Given the description of an element on the screen output the (x, y) to click on. 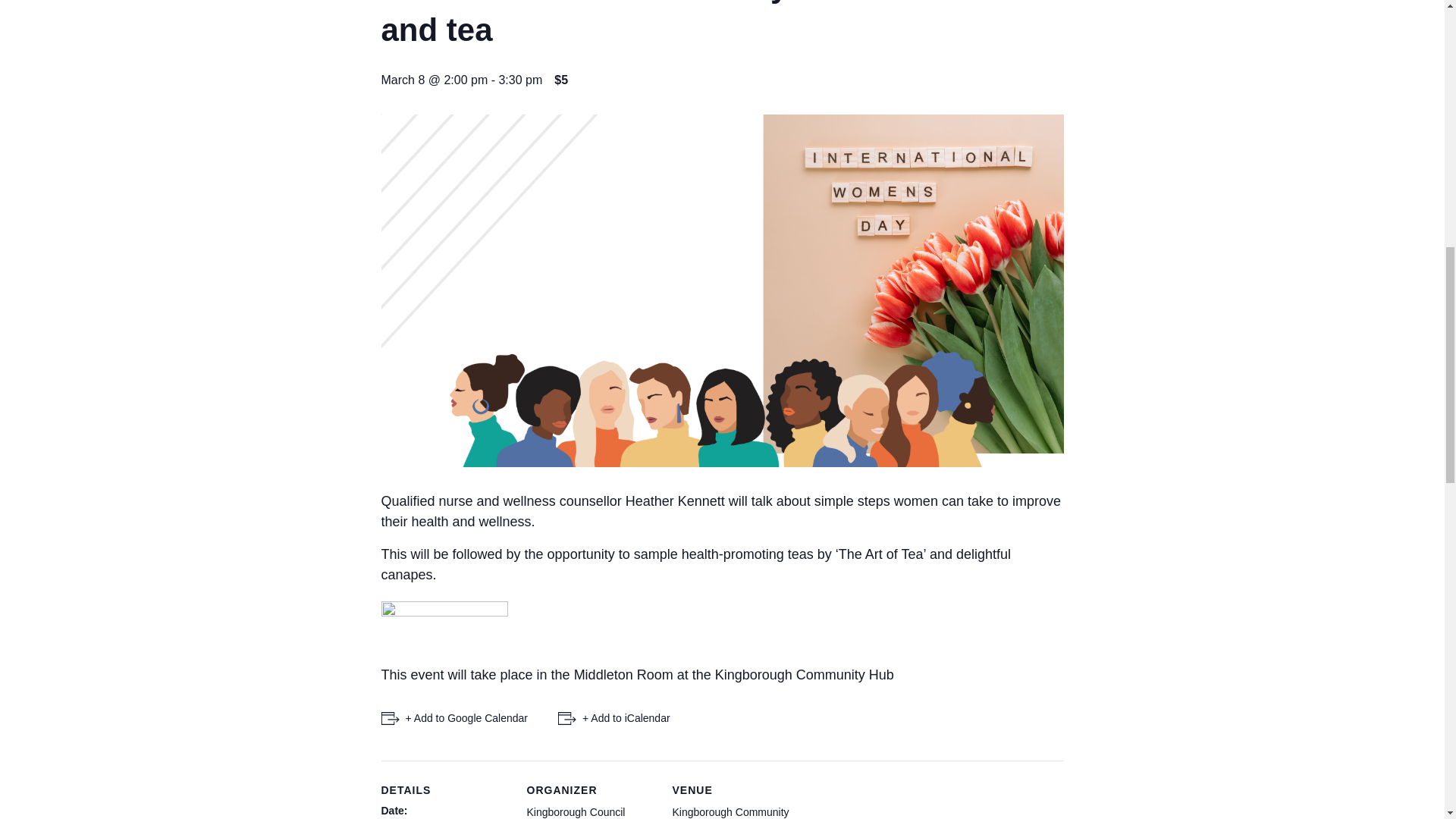
Add to Google Calendar (453, 718)
Kingborough Council (574, 811)
Add to iCalendar (613, 718)
